Given the description of an element on the screen output the (x, y) to click on. 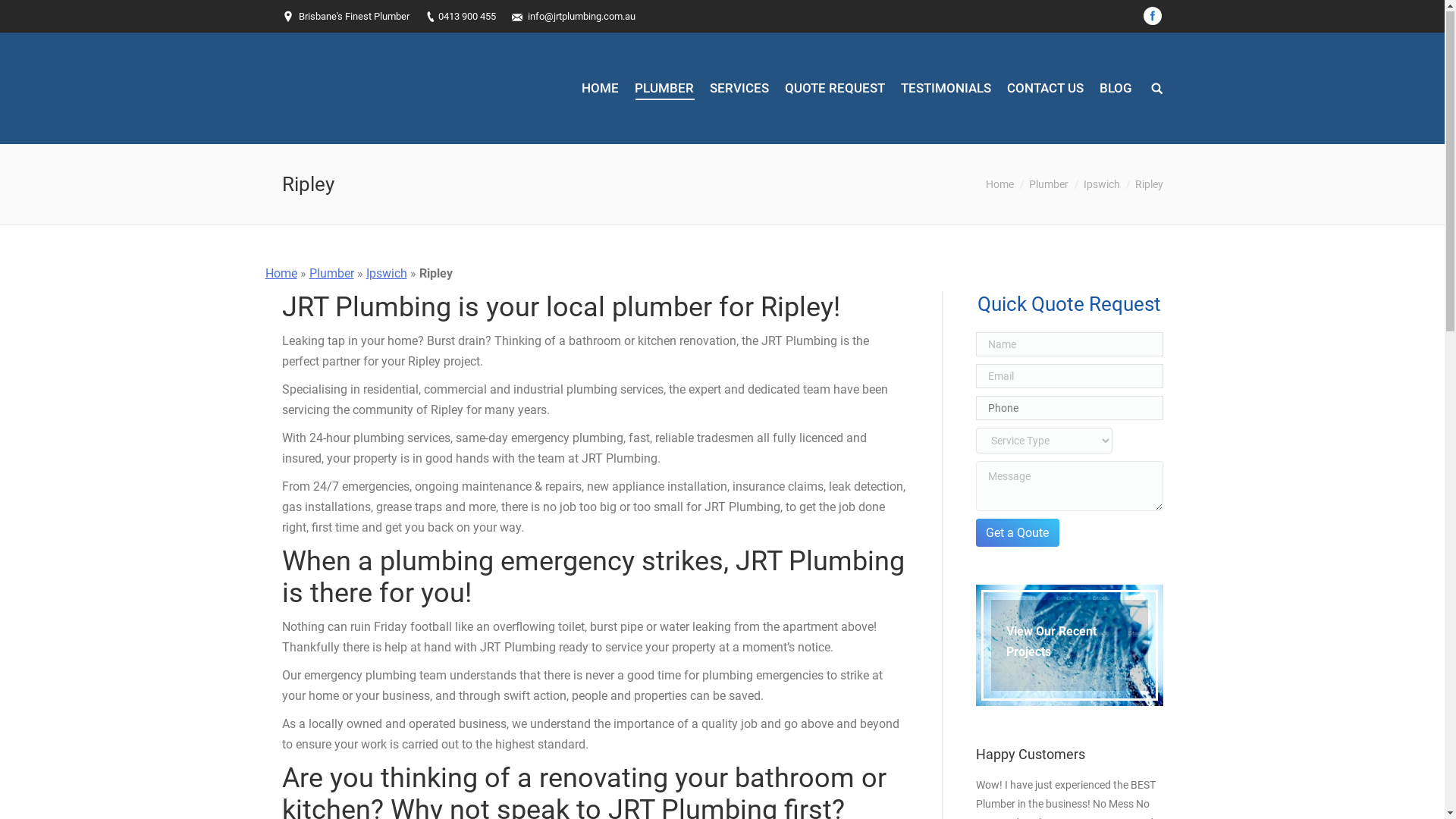
Home Element type: text (999, 184)
Plumber Element type: text (1047, 184)
View Our Recent Projects Element type: text (1069, 645)
Go! Element type: text (19, 14)
BLOG Element type: text (1115, 89)
QUOTE REQUEST Element type: text (834, 89)
  Element type: text (1157, 88)
Ipswich Element type: text (385, 273)
HOME Element type: text (599, 89)
Plumber Element type: text (331, 273)
Facebook Element type: hover (1152, 16)
PLUMBER Element type: text (663, 89)
CONTACT US Element type: text (1044, 89)
SERVICES Element type: text (738, 89)
Home Element type: text (281, 273)
Ipswich Element type: text (1100, 184)
Get a Qoute Element type: text (1017, 533)
TESTIMONIALS Element type: text (945, 89)
